Given the description of an element on the screen output the (x, y) to click on. 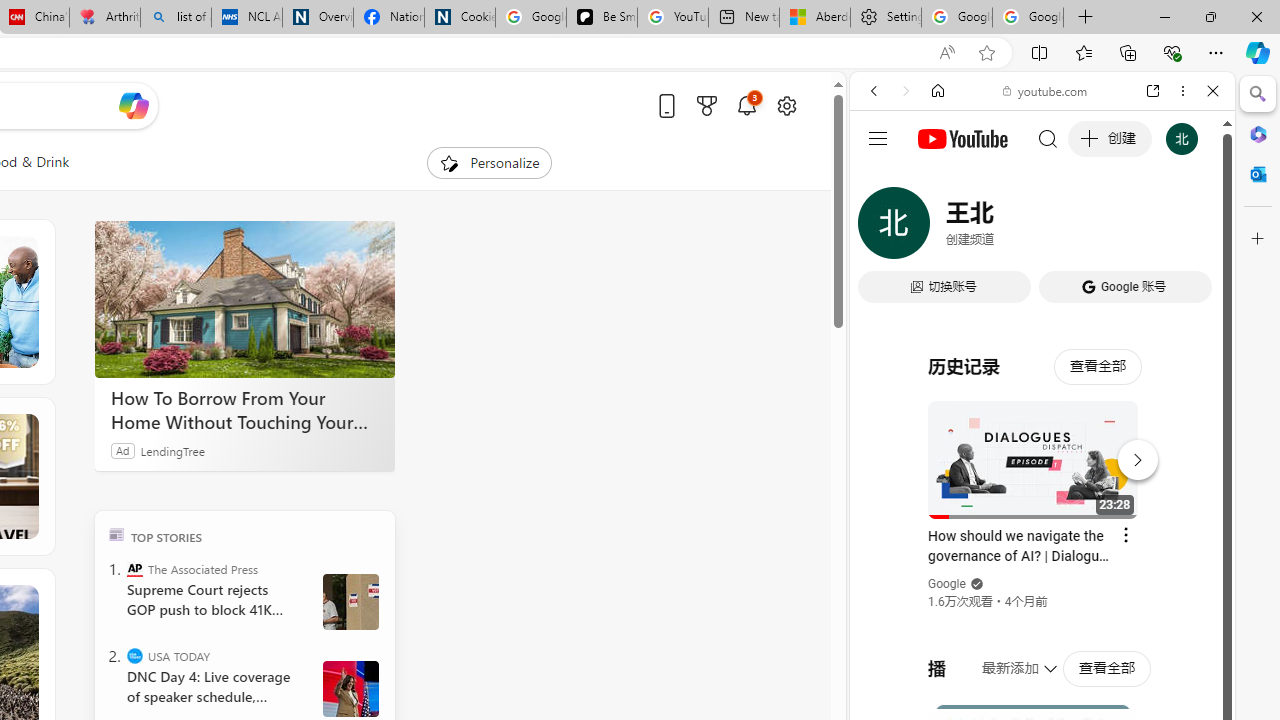
This site scope (936, 180)
IMAGES (939, 228)
youtube.com (1046, 90)
Search the web (1051, 137)
Search Filter, IMAGES (939, 228)
Global web icon (888, 288)
Open settings (786, 105)
Forward (906, 91)
Trailer #2 [HD] (1042, 594)
